Given the description of an element on the screen output the (x, y) to click on. 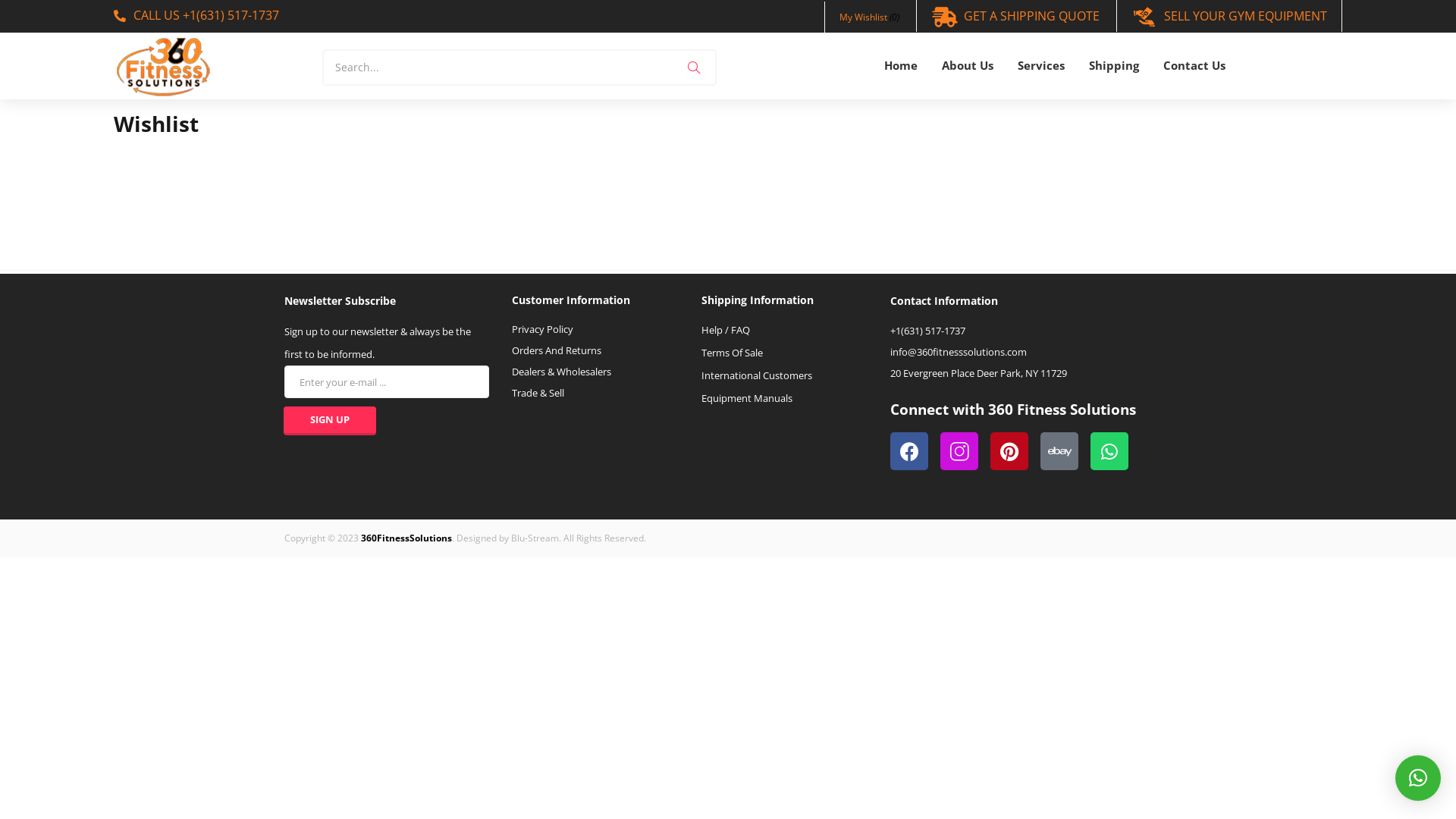
Dealers & Wholesalers Element type: text (561, 371)
SIGN UP Element type: text (329, 420)
My Wishlist (0) Element type: text (868, 16)
Home Element type: text (900, 66)
About Us Element type: text (967, 66)
Orders And Returns Element type: text (556, 350)
International Customers Element type: text (756, 375)
Privacy Policy Element type: text (542, 328)
Help / FAQ Element type: text (725, 329)
Shipping Element type: text (1113, 66)
GET A SHIPPING QUOTE Element type: text (1014, 15)
SELL YOUR GYM EQUIPMENT Element type: text (1229, 15)
Services Element type: text (1040, 66)
Contact Us Element type: text (1194, 66)
